Given the description of an element on the screen output the (x, y) to click on. 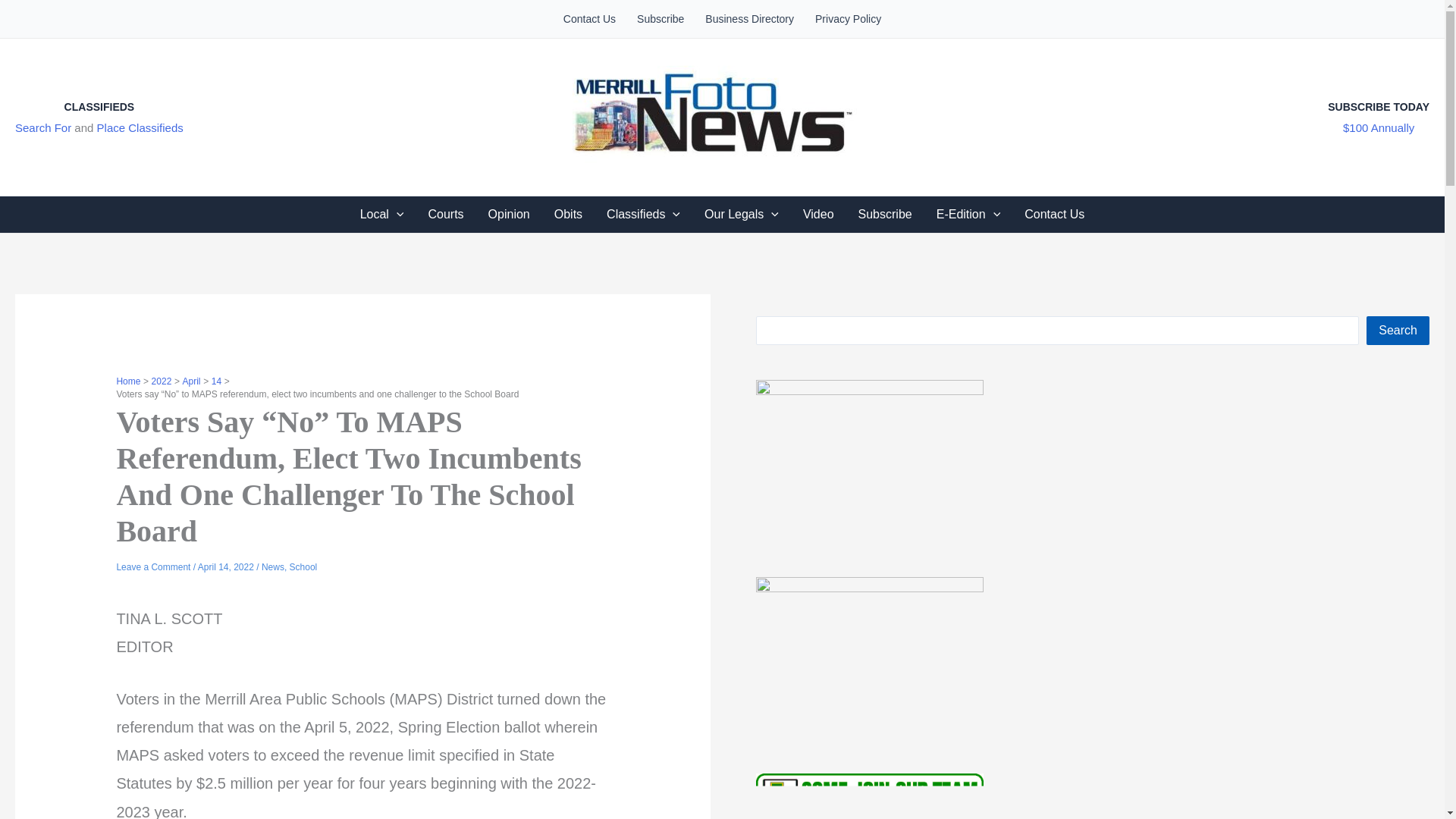
Subscribe (660, 18)
Local (381, 214)
E-Edition (968, 214)
Courts (445, 214)
Contact Us (1053, 214)
Classifieds (643, 214)
Obits (567, 214)
Business Directory (749, 18)
Video (817, 214)
Search For (42, 127)
Contact Us (589, 18)
Subscribe (884, 214)
Our Legals (741, 214)
Opinion (508, 214)
Privacy Policy (848, 18)
